Given the description of an element on the screen output the (x, y) to click on. 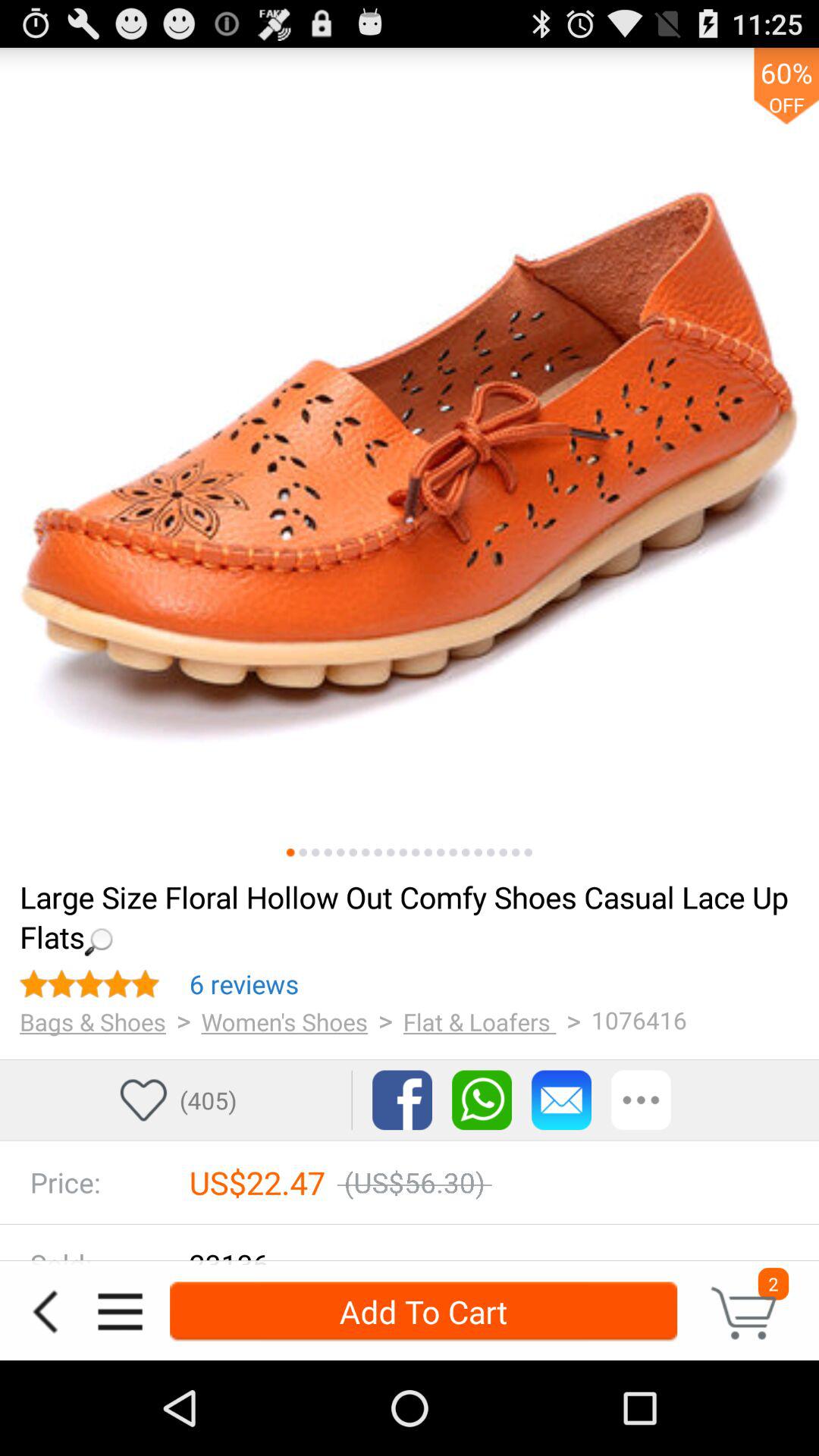
switch image view (428, 852)
